Given the description of an element on the screen output the (x, y) to click on. 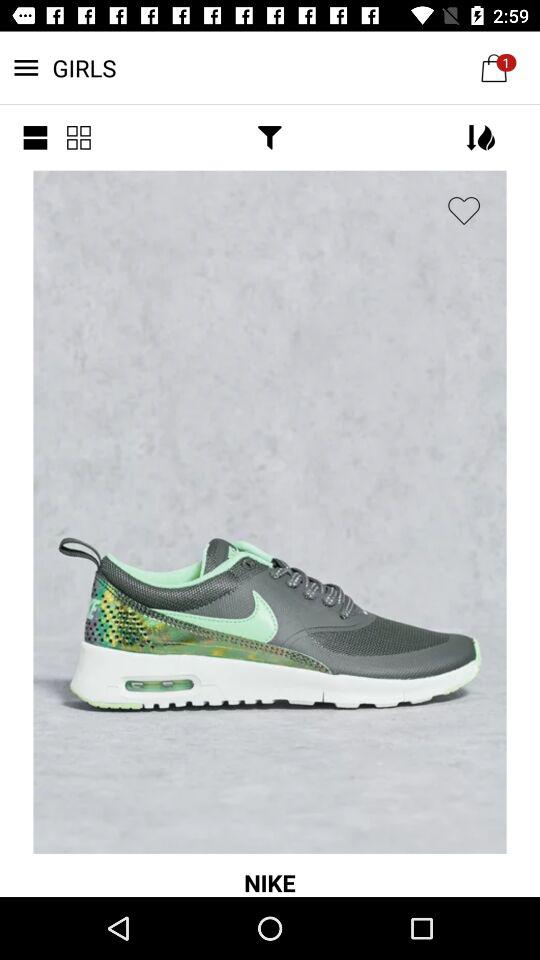
the first icon from left in the row shown below girls (34, 137)
the heart icon on the image shown above the text nike (464, 211)
click the button on the top right corner of the web page (494, 67)
click on the image above nike (269, 512)
